Given the description of an element on the screen output the (x, y) to click on. 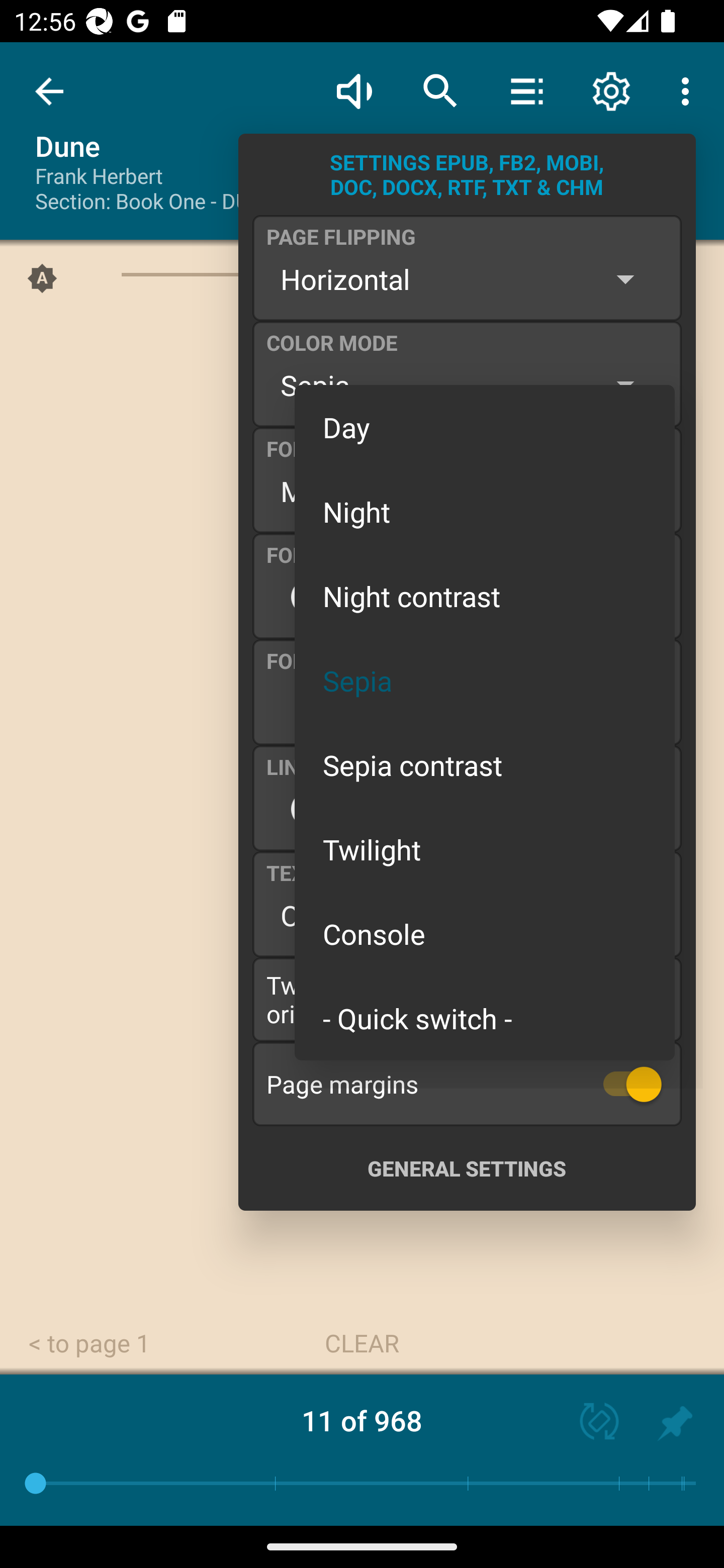
Day (484, 426)
Night (484, 510)
Night contrast (484, 595)
Sepia (484, 680)
Sepia contrast (484, 764)
Twilight (484, 849)
Console (484, 933)
- Quick switch - (484, 1017)
